Given the description of an element on the screen output the (x, y) to click on. 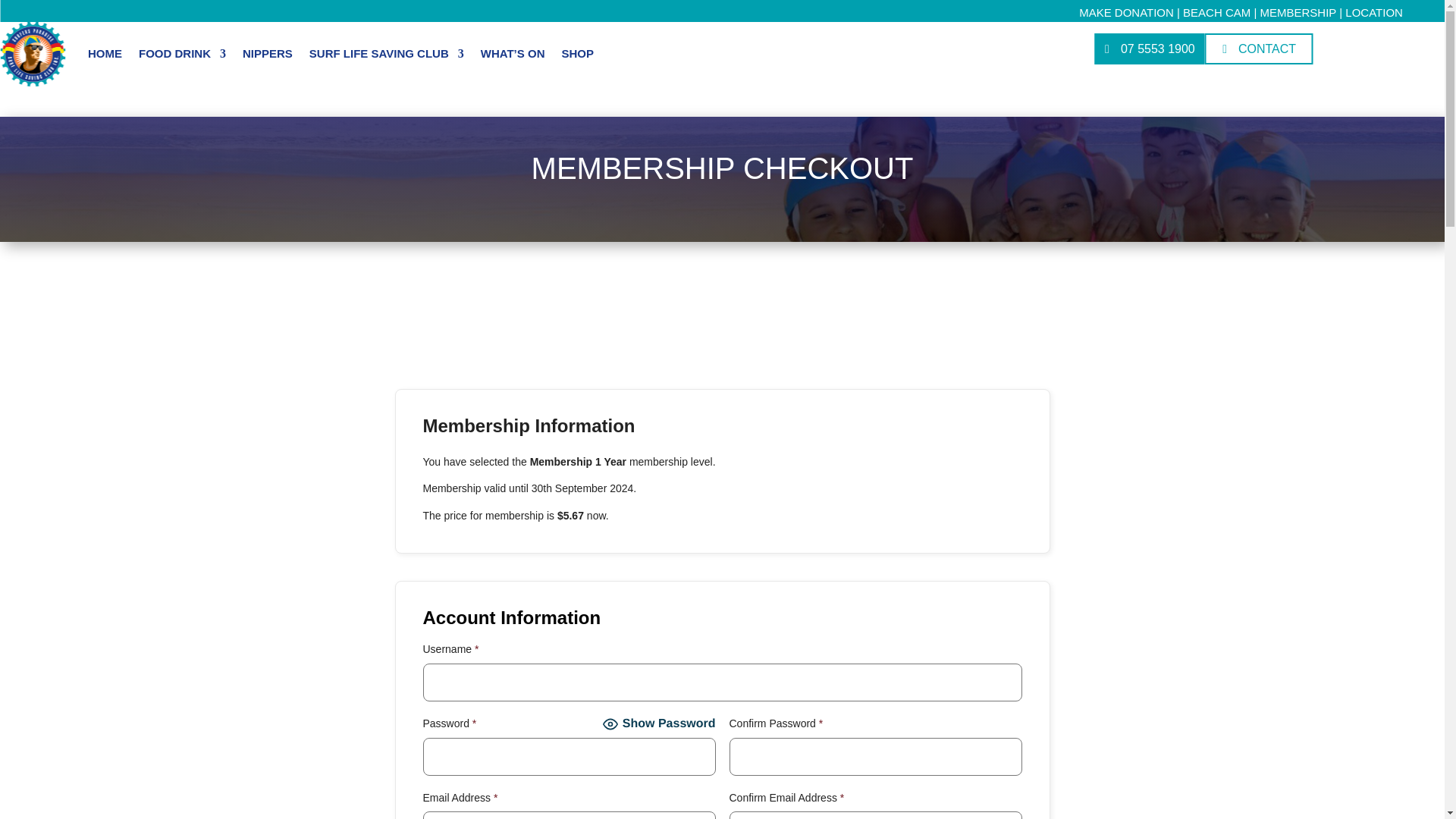
LOCATION (1374, 11)
MAKE DONATION (1125, 11)
07 5553 1900 (1149, 48)
MEMBERSHIP (1298, 11)
SURF LIFE SAVING CLUB (386, 53)
CONTACT (1259, 48)
FOOD DRINK (181, 53)
